Given the description of an element on the screen output the (x, y) to click on. 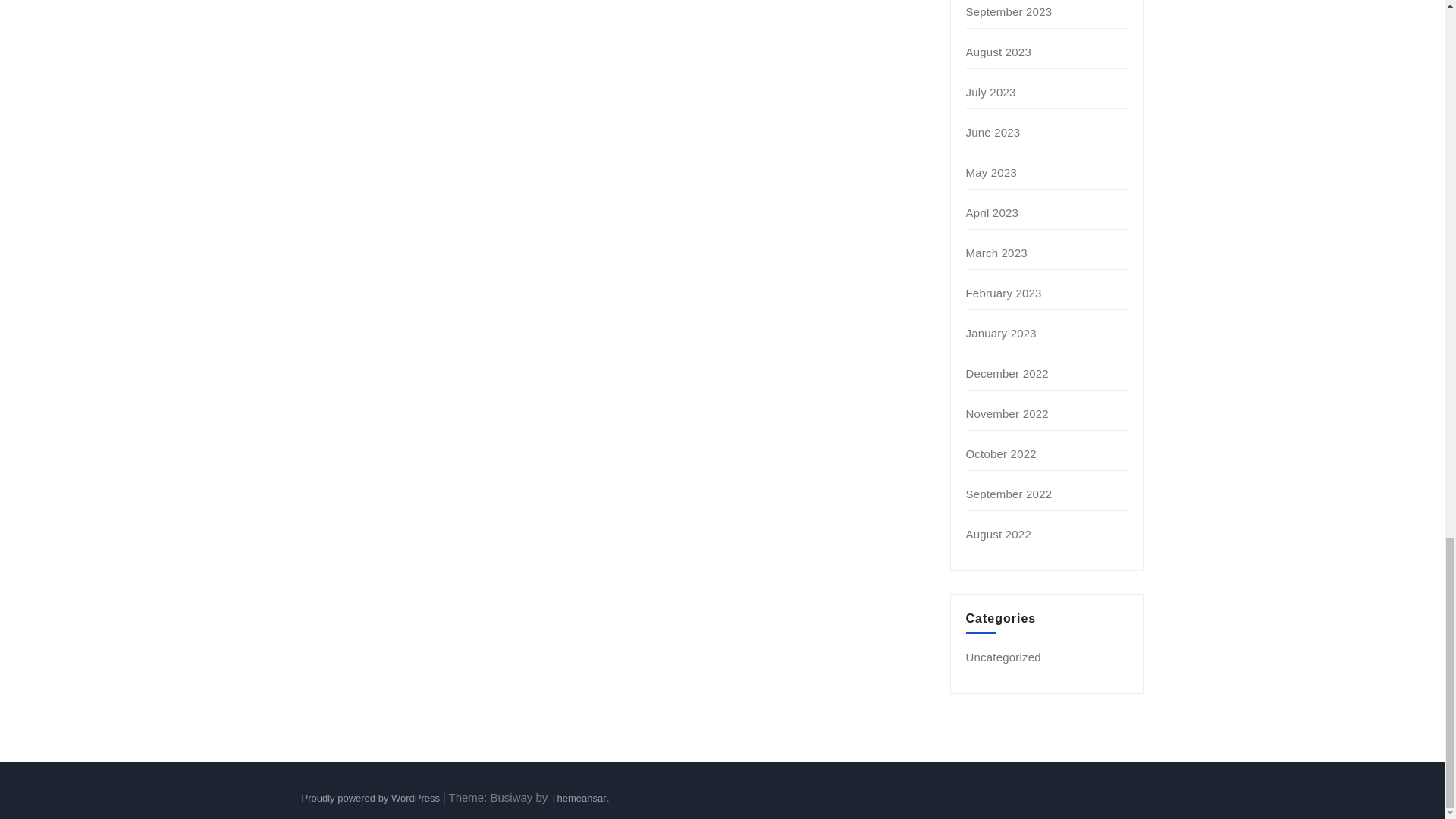
August 2023 (998, 51)
July 2023 (991, 91)
September 2023 (1009, 11)
